Given the description of an element on the screen output the (x, y) to click on. 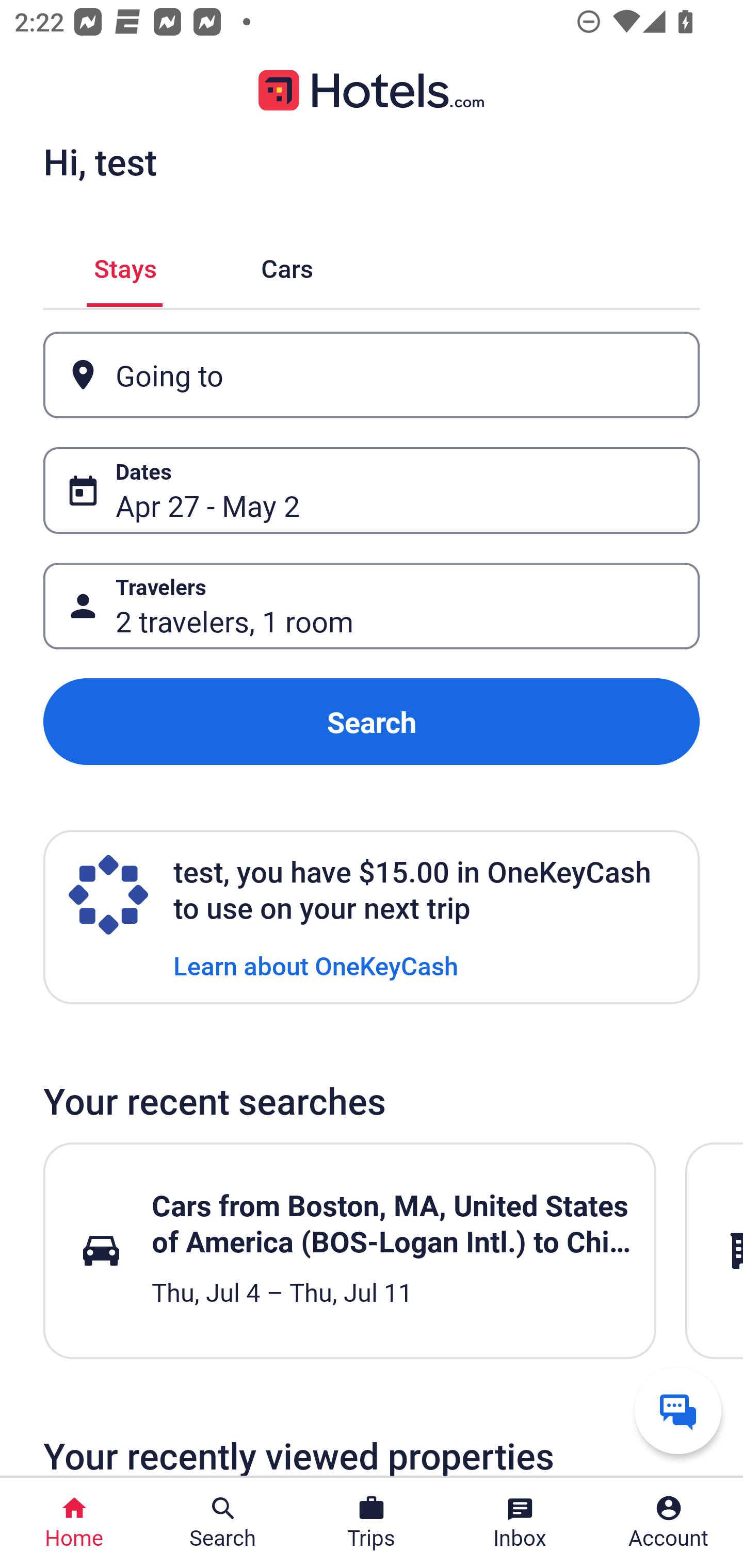
Hi, test (99, 161)
Cars (286, 265)
Going to Button (371, 375)
Dates Button Apr 27 - May 2 (371, 489)
Travelers Button 2 travelers, 1 room (371, 605)
Search (371, 721)
Learn about OneKeyCash Learn about OneKeyCash Link (315, 964)
Get help from a virtual agent (677, 1410)
Search Search Button (222, 1522)
Trips Trips Button (371, 1522)
Inbox Inbox Button (519, 1522)
Account Profile. Button (668, 1522)
